Given the description of an element on the screen output the (x, y) to click on. 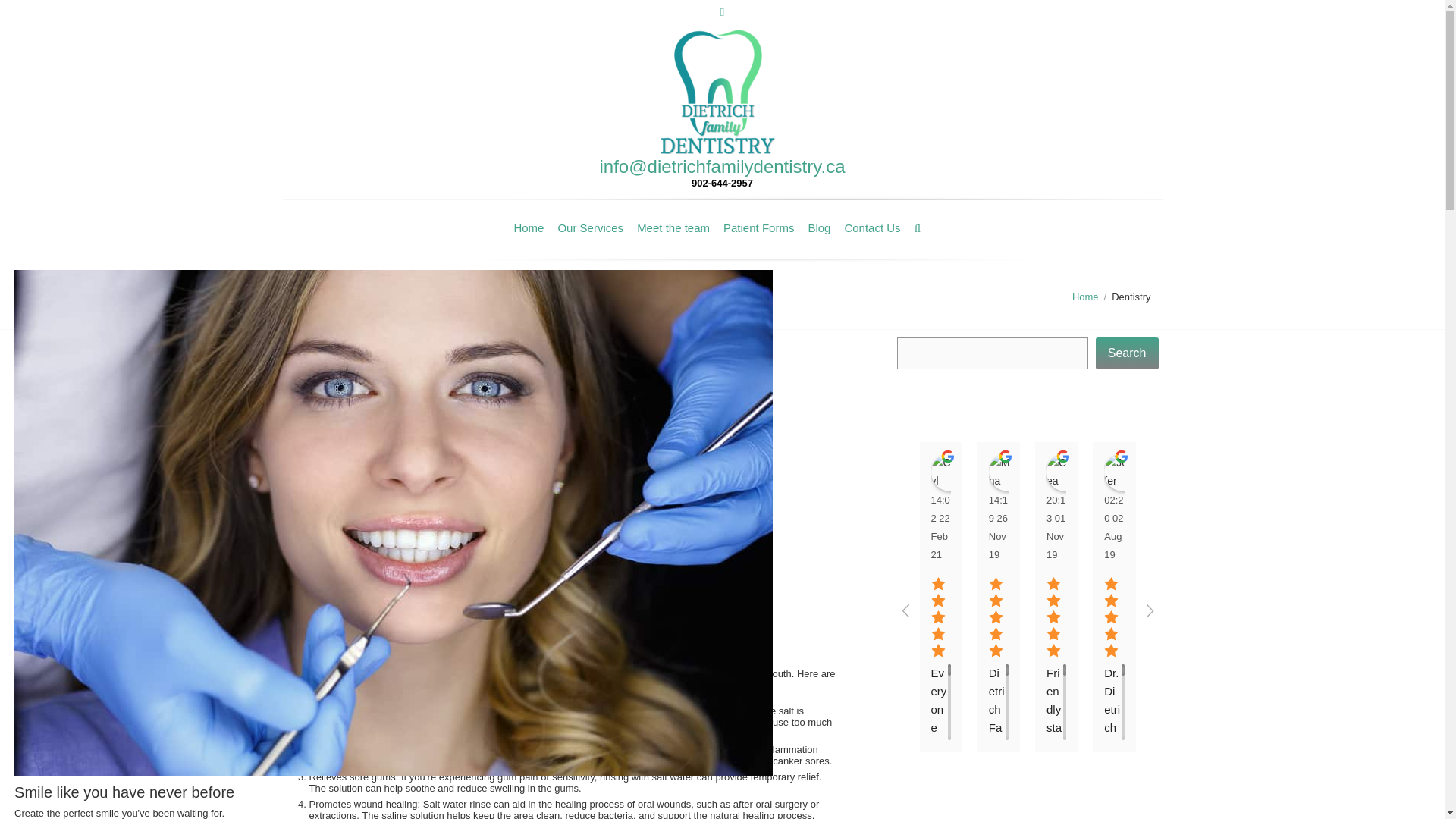
Our Services (590, 227)
Home (1085, 296)
Dietrich Family Dentistry (345, 378)
Meet the team (673, 227)
Salt water rinsing a natural remedy (563, 347)
Home (1085, 296)
Home (528, 227)
Patient Forms (758, 227)
Posts by Dietrich Family Dentistry (345, 378)
Contact Us (872, 227)
Salt water rinsing a natural remedy (563, 347)
